Given the description of an element on the screen output the (x, y) to click on. 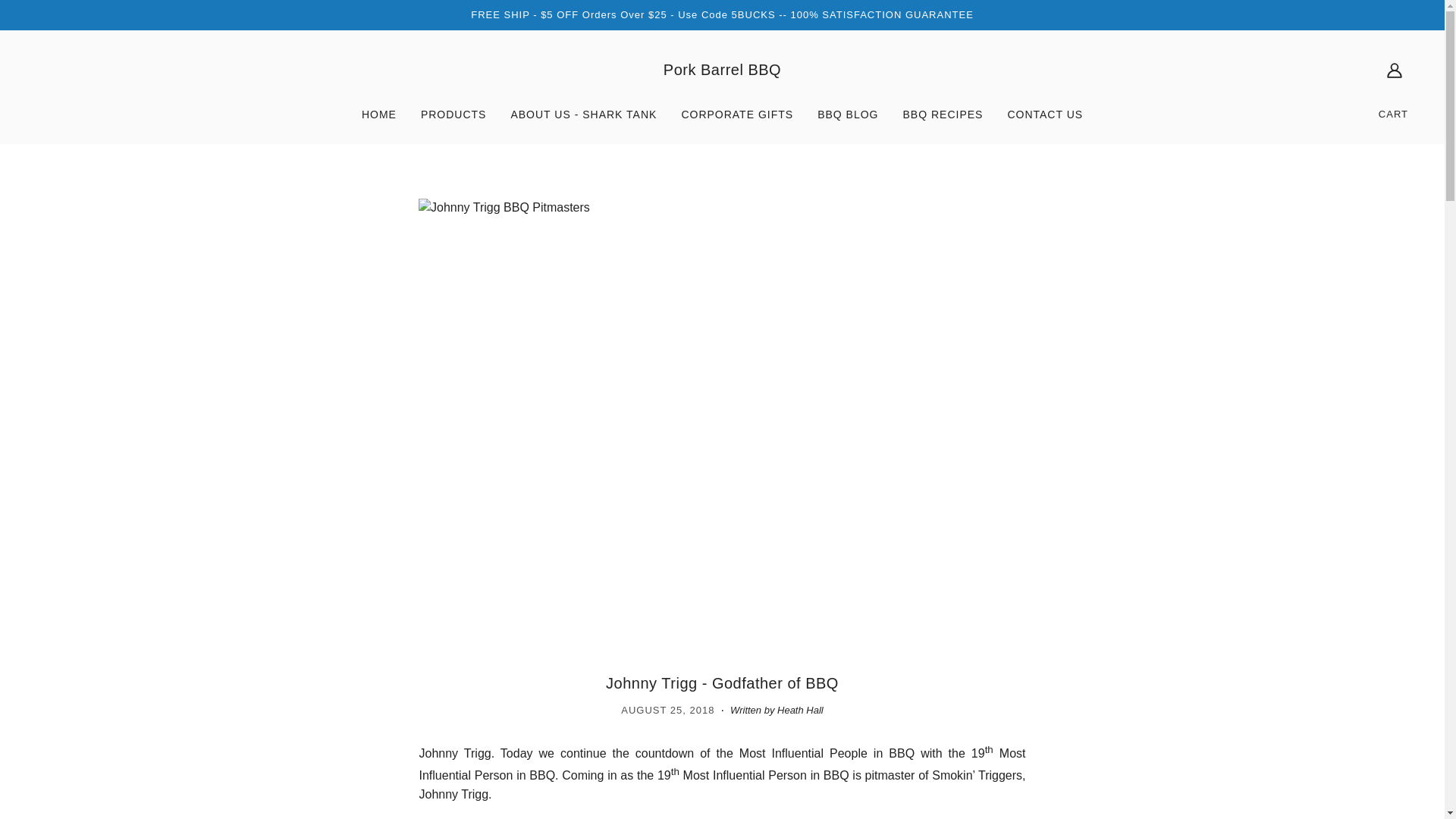
CONTACT US (1044, 120)
CORPORATE GIFTS (736, 120)
BBQ BLOG (847, 120)
ABOUT US - SHARK TANK (582, 120)
Pork Barrel BBQ (721, 69)
PRODUCTS (454, 120)
BBQ RECIPES (941, 120)
Pork Barrel BBQ (721, 69)
CART (1394, 114)
HOME (379, 120)
